Given the description of an element on the screen output the (x, y) to click on. 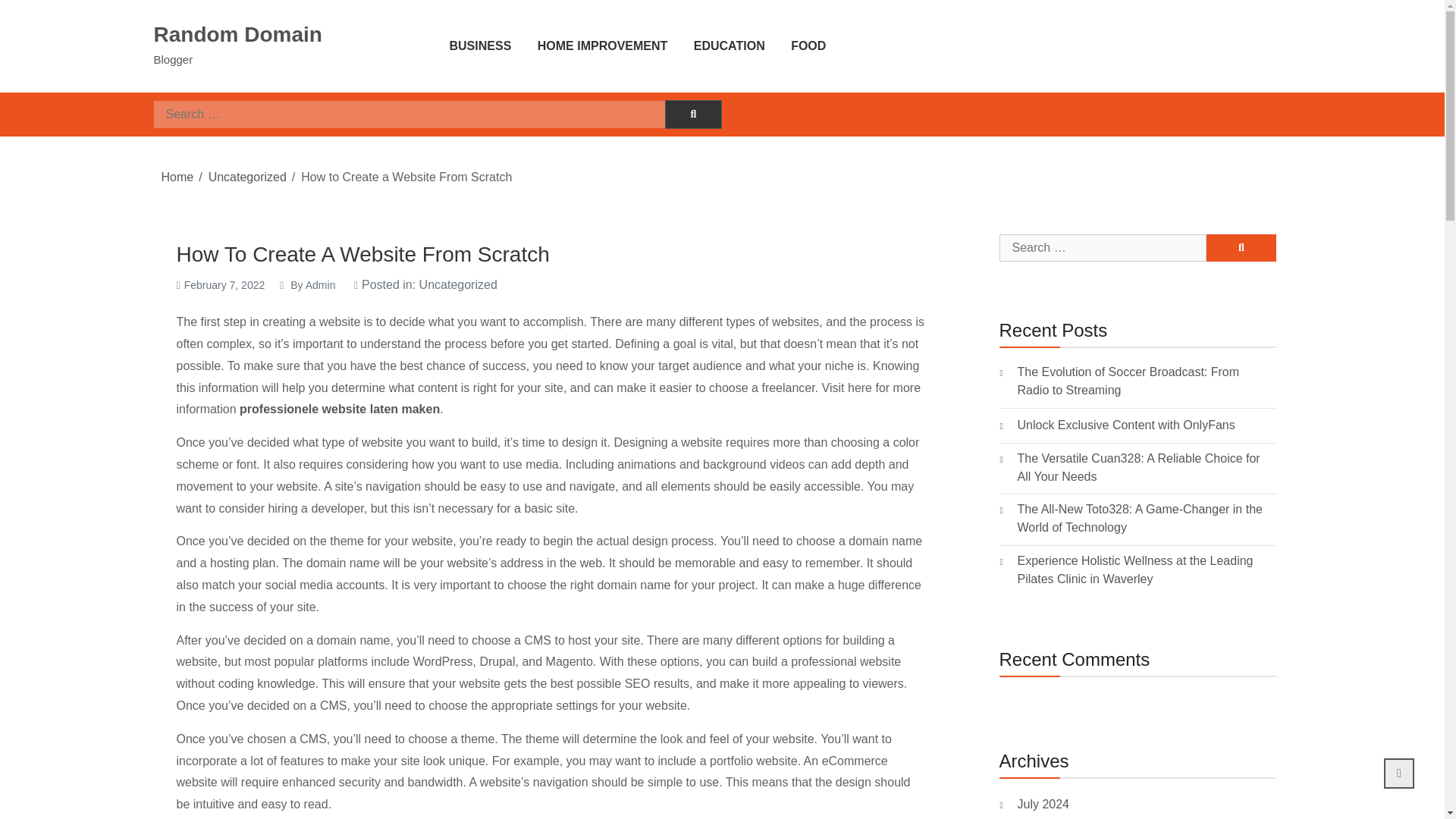
The Evolution of Soccer Broadcast: From Radio to Streaming (1141, 381)
Home (176, 176)
professionele website laten maken (339, 408)
The Versatile Cuan328: A Reliable Choice for All Your Needs (1141, 467)
FOOD (807, 46)
EDUCATION (729, 46)
Blogger (172, 59)
Random Domain (236, 33)
Admin (320, 285)
Uncategorized (458, 284)
Uncategorized (247, 176)
BUSINESS (479, 46)
July 2024 (1043, 804)
